Given the description of an element on the screen output the (x, y) to click on. 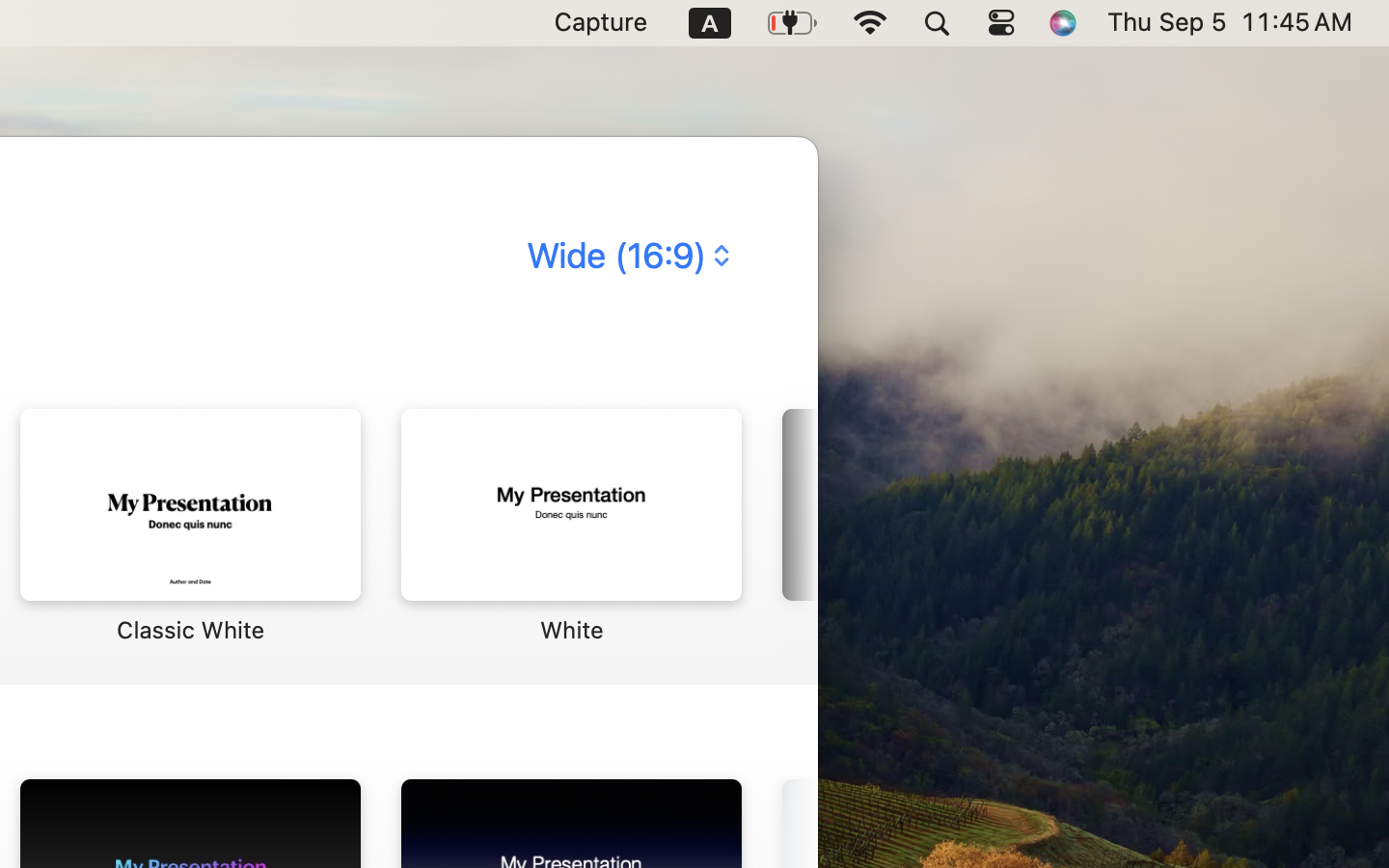
Wide (16:9) Element type: AXPopUpButton (625, 255)
